Given the description of an element on the screen output the (x, y) to click on. 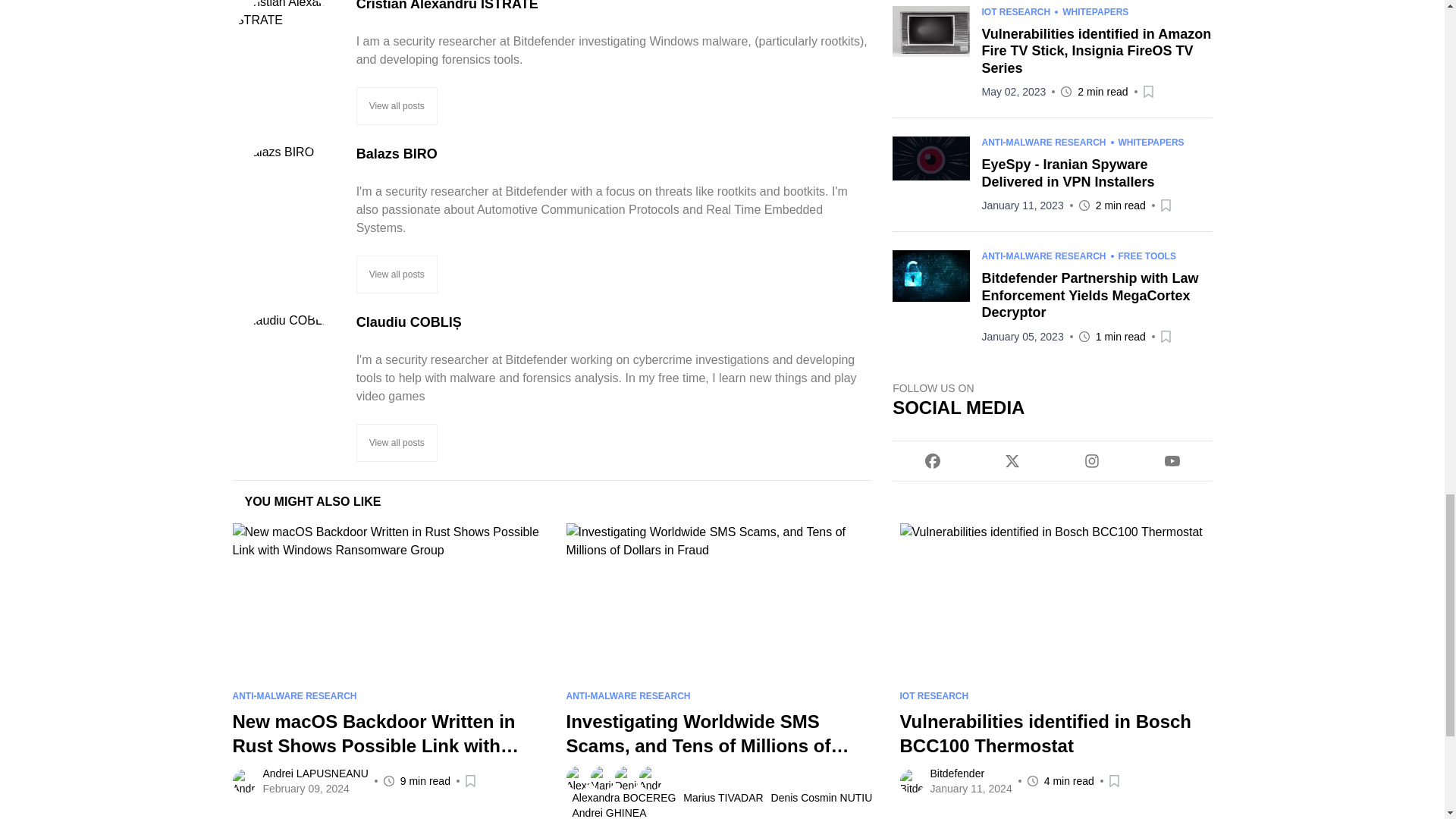
View all posts (397, 105)
Balazs BIRO (614, 153)
View all posts (397, 274)
View all posts (397, 442)
Cristian Alexandru ISTRATE (614, 7)
